Given the description of an element on the screen output the (x, y) to click on. 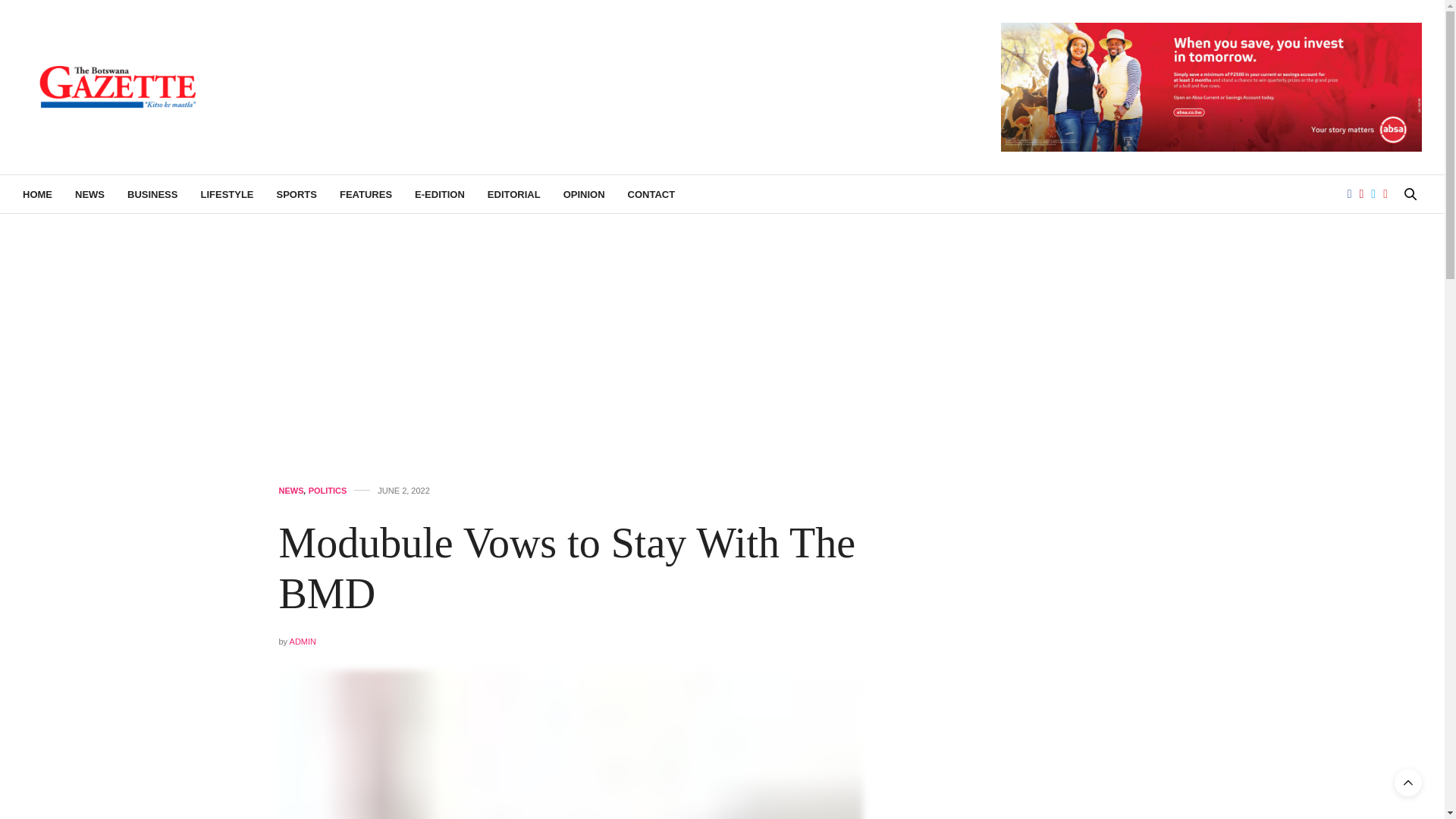
Posts by Admin (302, 641)
NEWS (291, 490)
FEATURES (365, 193)
BUSINESS (152, 193)
SPORTS (296, 193)
POLITICS (327, 490)
OPINION (584, 193)
Botswana Gazette (117, 86)
LIFESTYLE (226, 193)
